Given the description of an element on the screen output the (x, y) to click on. 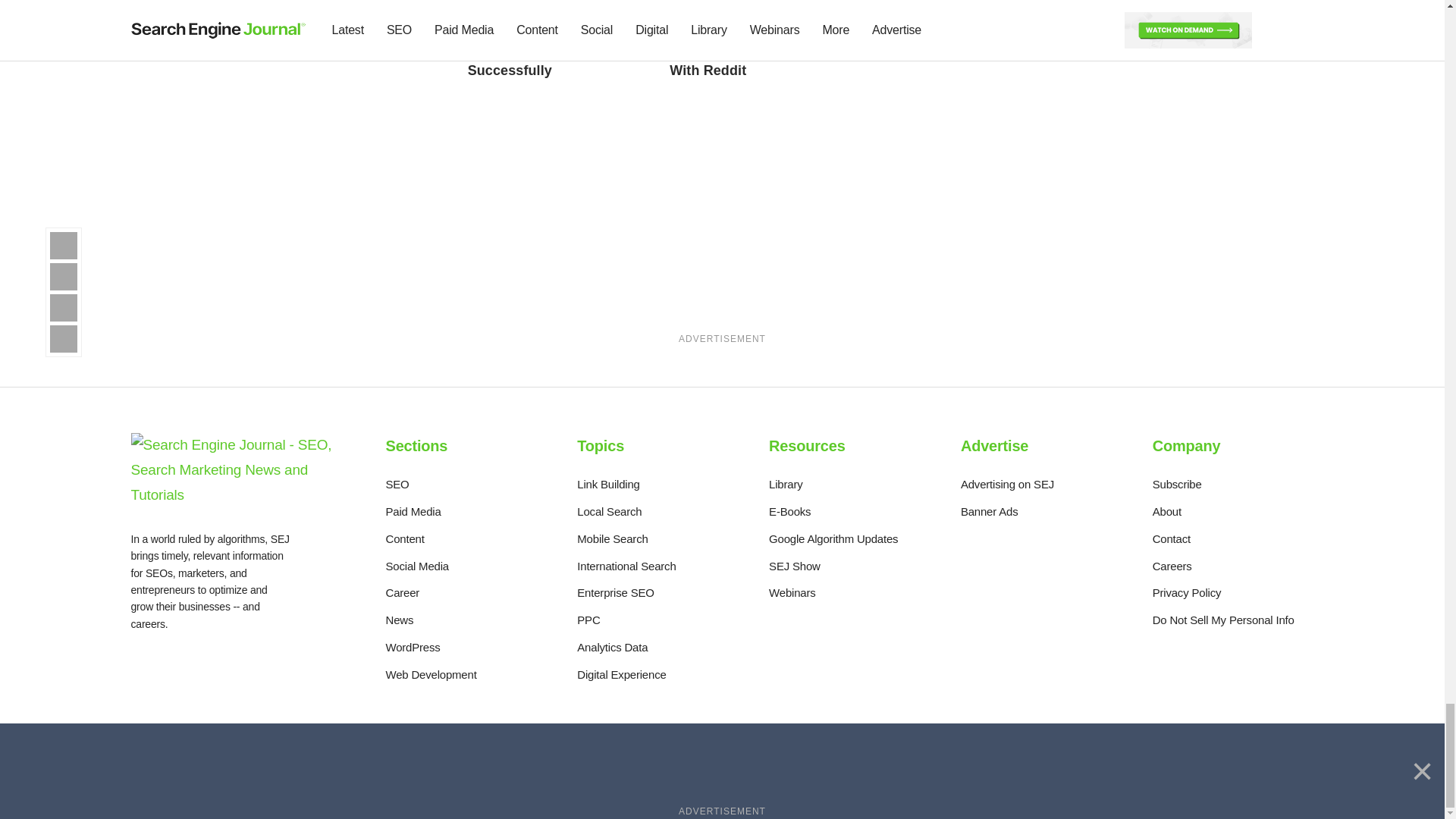
Read the Article (753, 53)
Read the Article (344, 46)
Read the Article (755, 11)
Read the Article (351, 11)
Read the Article (553, 11)
Read the Article (547, 53)
